Given the description of an element on the screen output the (x, y) to click on. 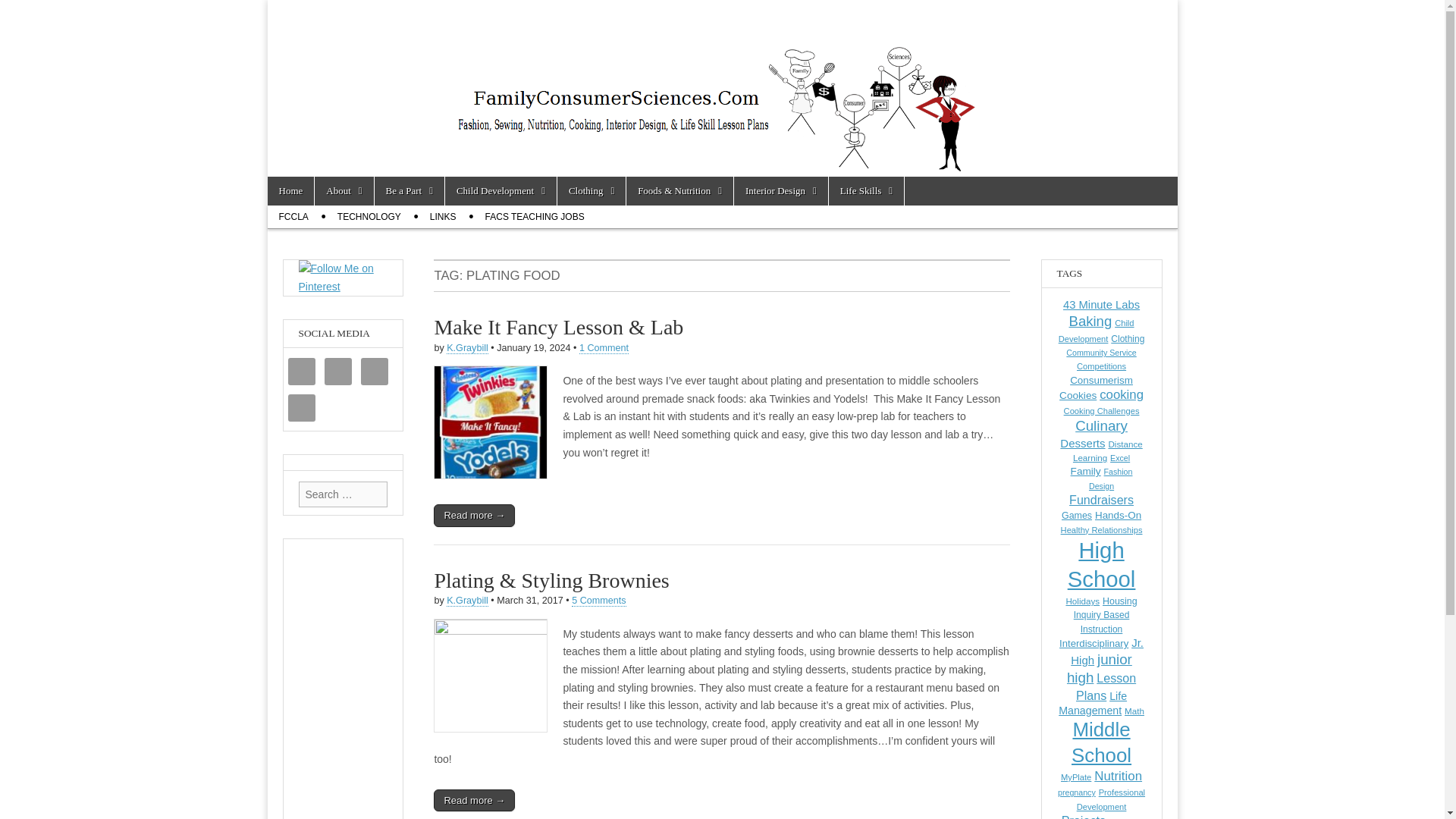
Be a Part (409, 190)
Skip to content (296, 184)
Clothing (591, 190)
Life Skills (866, 190)
Skip to content (296, 184)
FamilyConsumerSciences.com (507, 40)
FamilyConsumerSciences.com (507, 40)
About (343, 190)
Posts by K.Graybill (466, 600)
Posts by K.Graybill (466, 348)
Home (290, 190)
Interior Design (780, 190)
Child Development (500, 190)
